Given the description of an element on the screen output the (x, y) to click on. 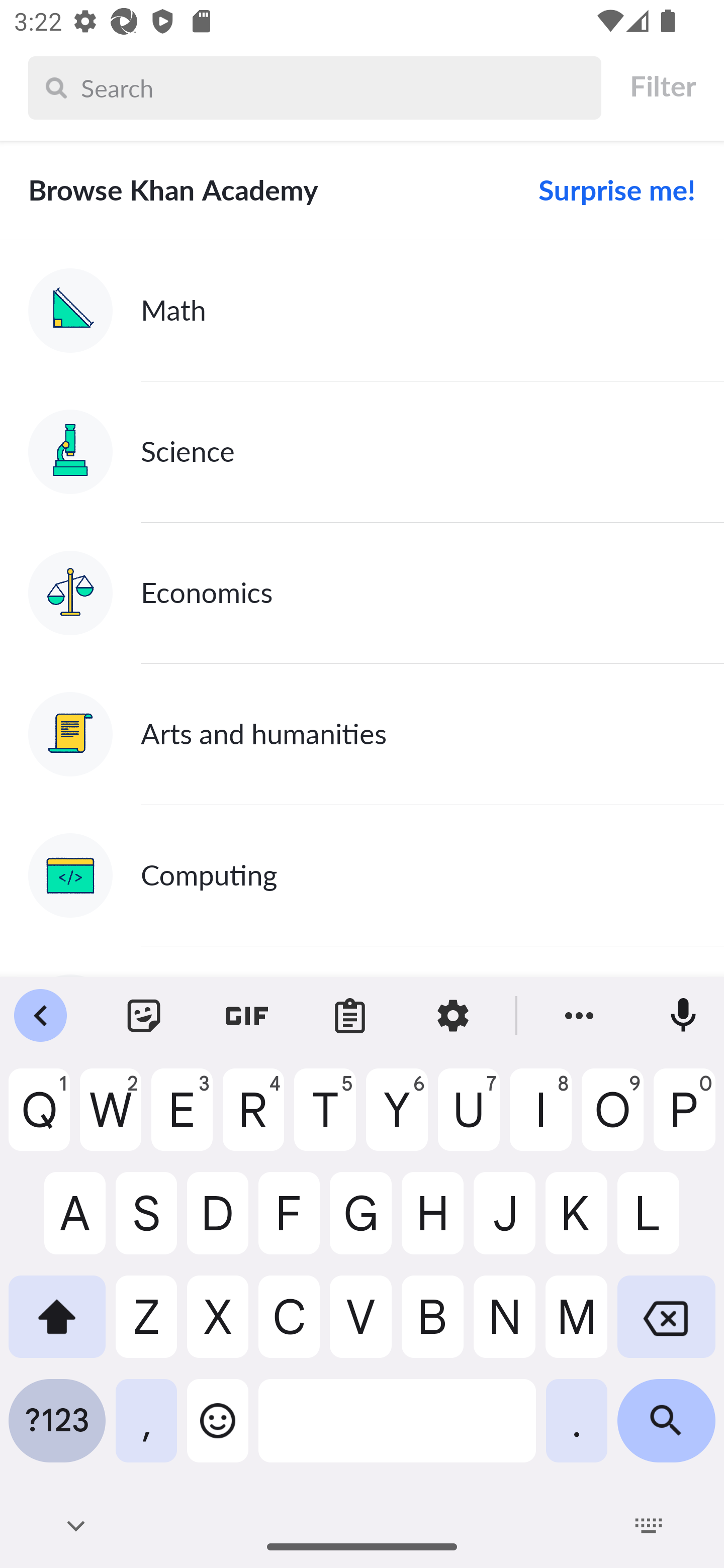
Search Search Search (314, 87)
Search (335, 87)
Filter (662, 85)
Surprise me! (609, 190)
Math (362, 310)
Science (362, 451)
Economics (362, 592)
Arts and humanities (362, 733)
Computing (362, 875)
